Given the description of an element on the screen output the (x, y) to click on. 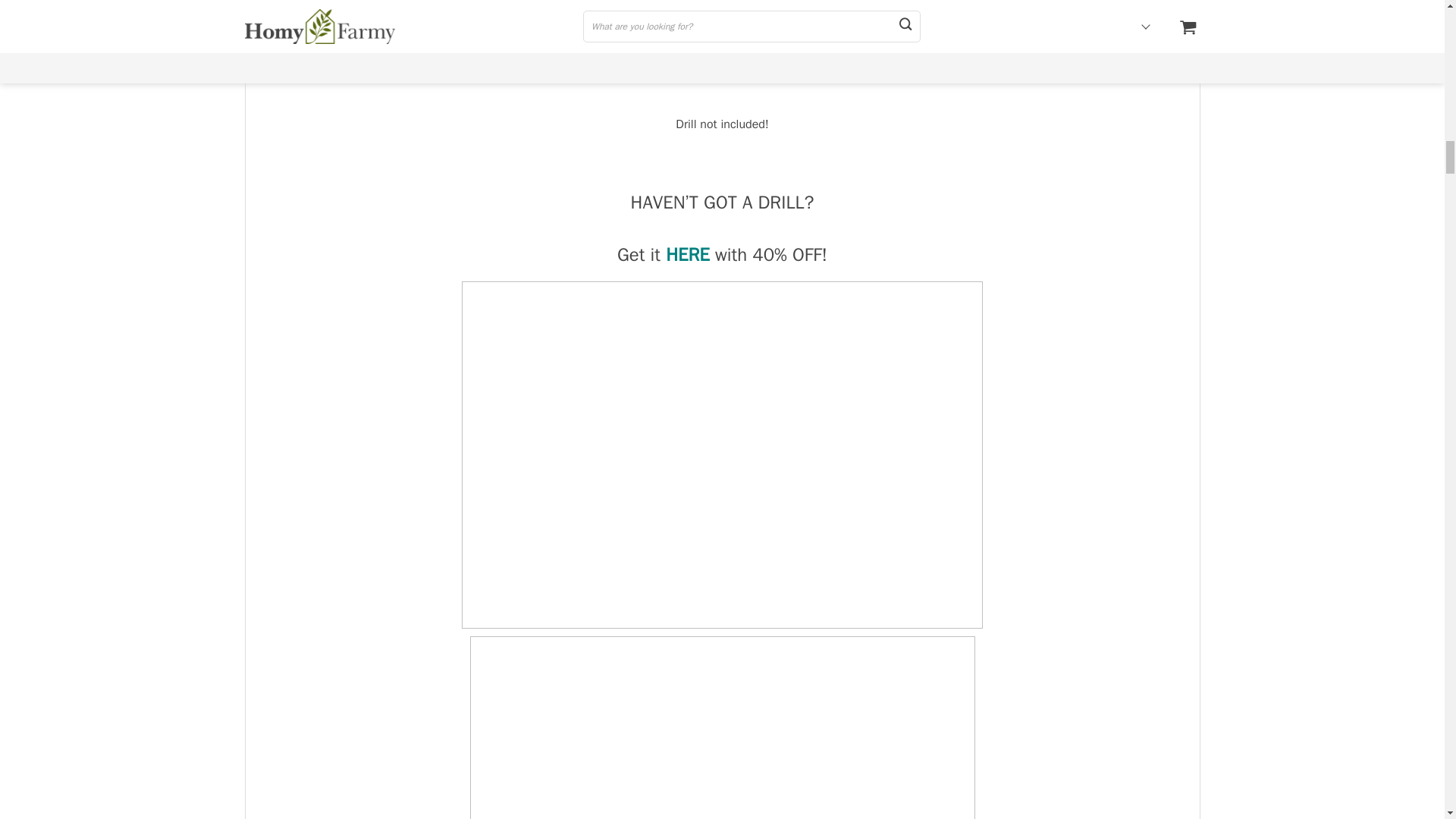
photo of extension rod (722, 727)
HERE (687, 254)
drill scrubber brush kit (722, 40)
